Given the description of an element on the screen output the (x, y) to click on. 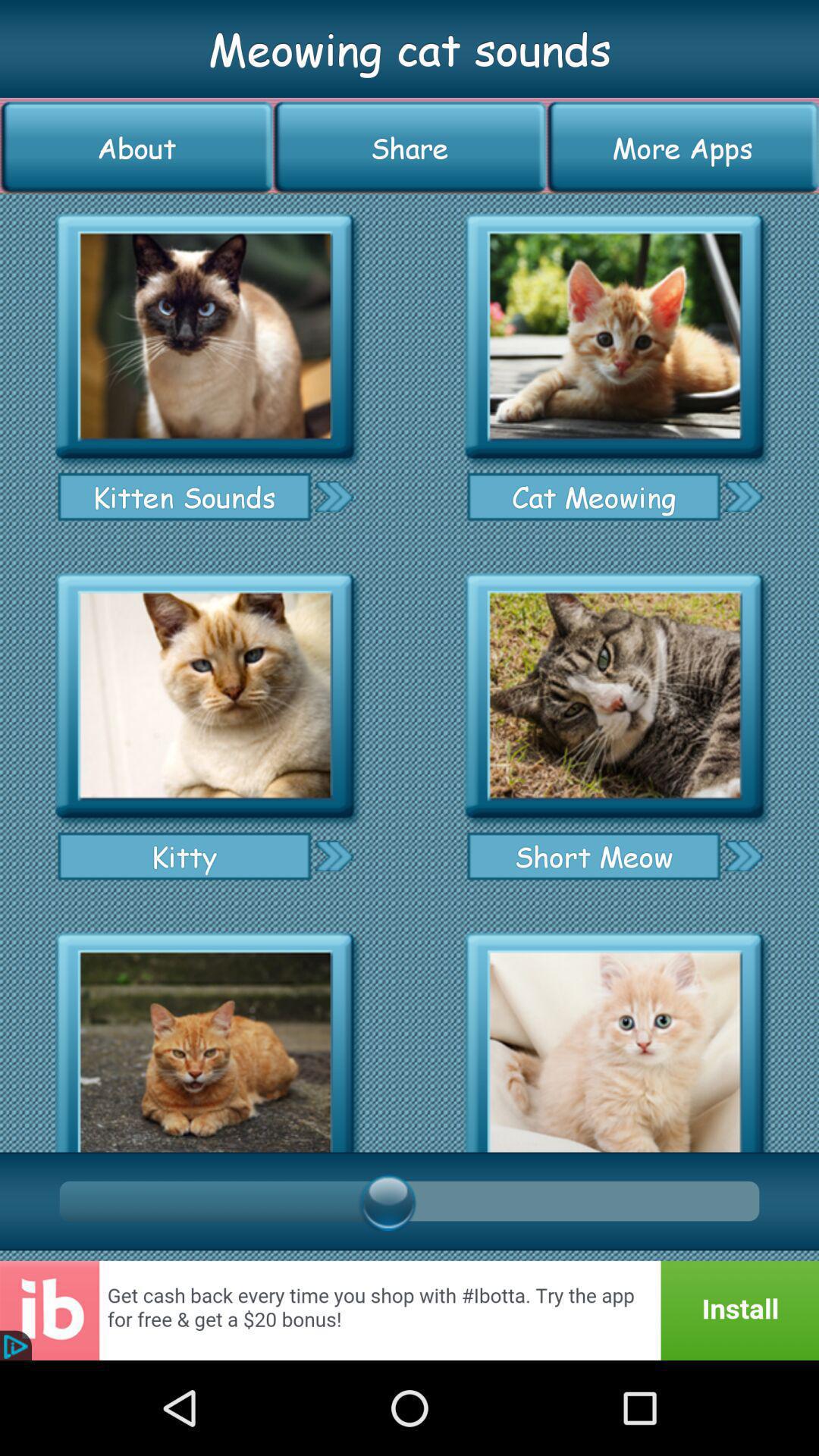
select this option (204, 336)
